Given the description of an element on the screen output the (x, y) to click on. 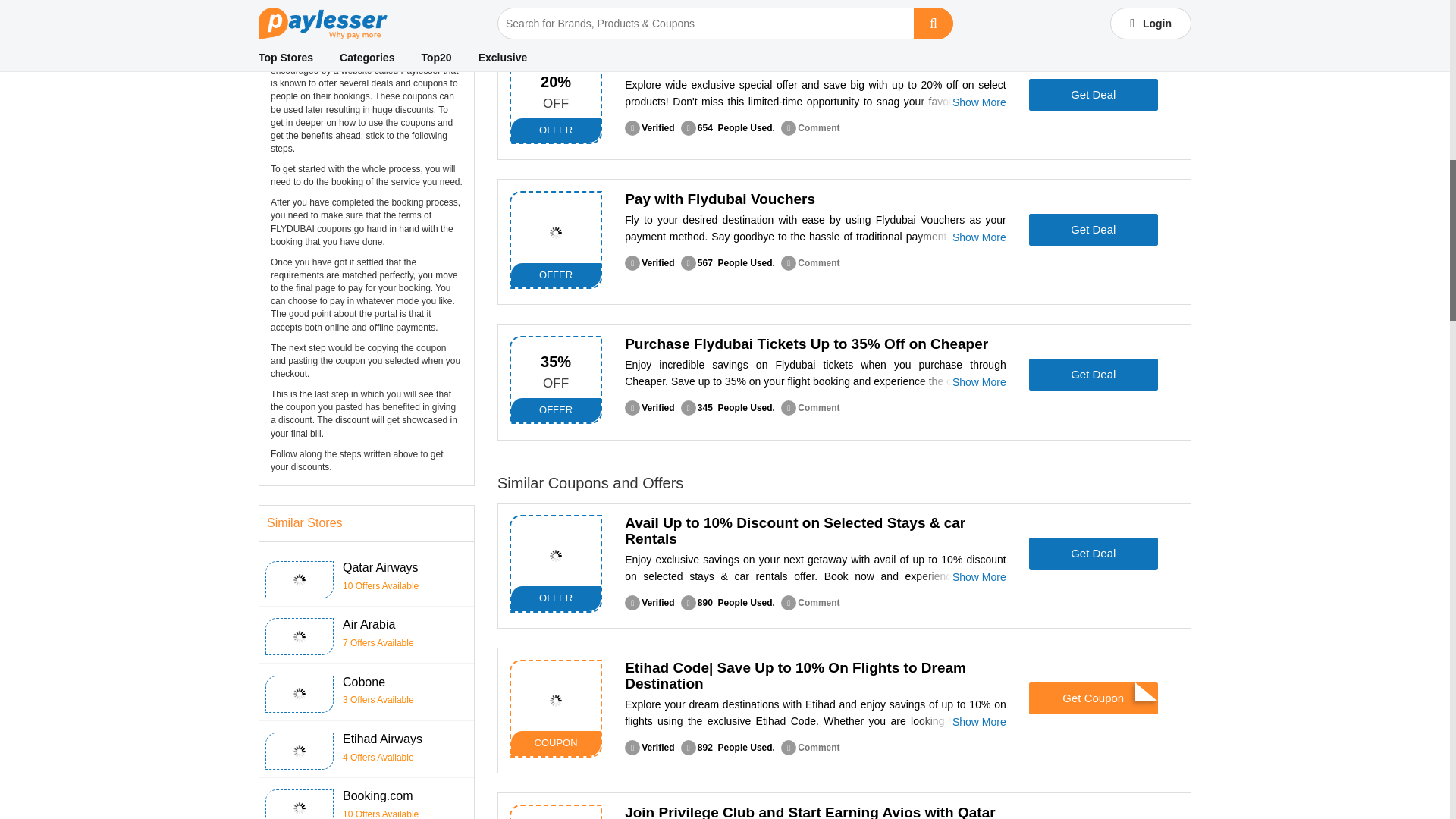
Cobone coupon (299, 693)
Etihad Airways coupon (299, 751)
Booking.com offers (555, 555)
Etihad Airways offers (555, 700)
Booking.com coupon (299, 808)
Flydubai offers (555, 232)
Air Arabia coupon (299, 636)
Qatar Airways coupon (299, 580)
